Given the description of an element on the screen output the (x, y) to click on. 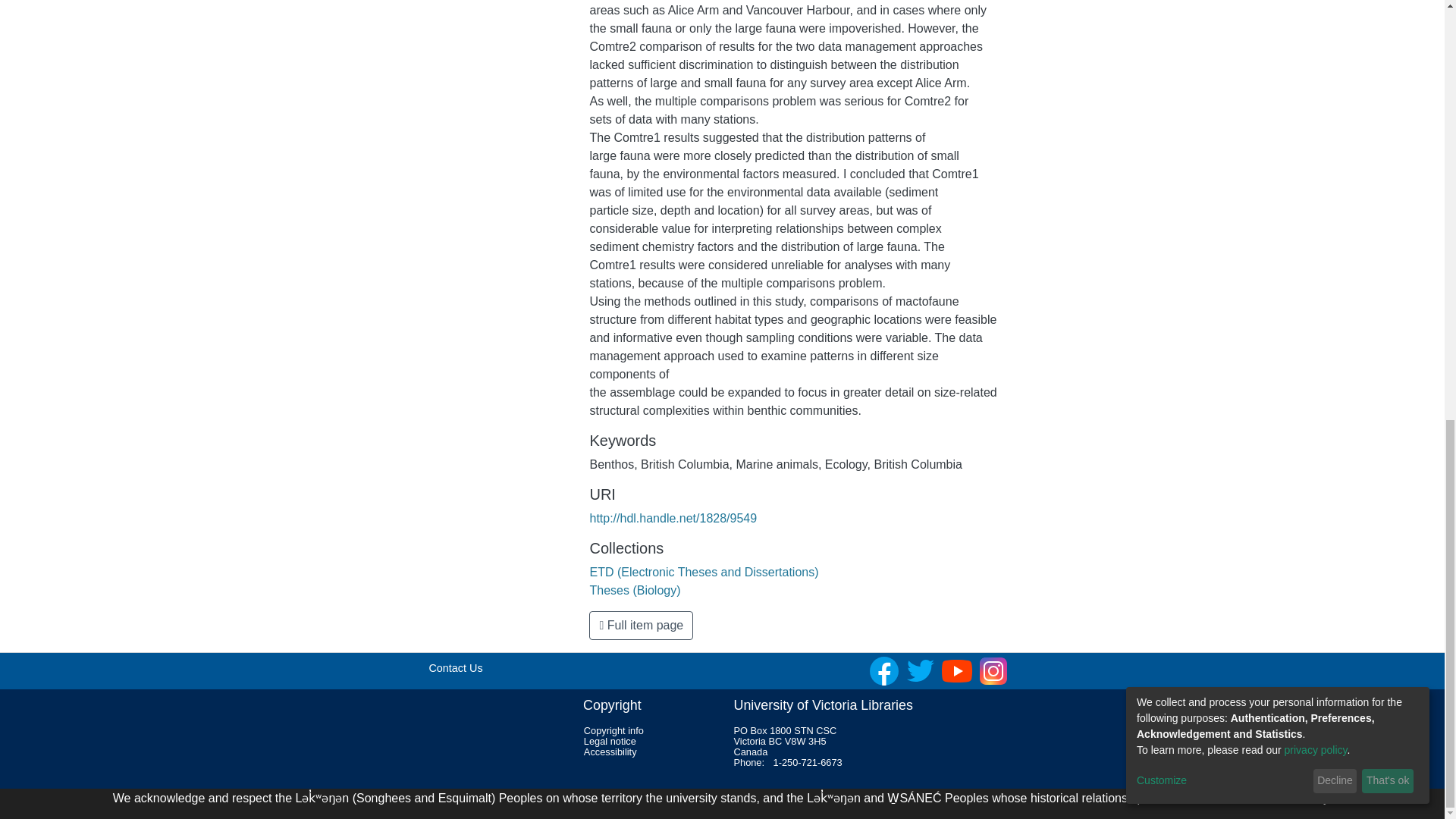
Full item page (641, 624)
Contact Us (454, 667)
